Given the description of an element on the screen output the (x, y) to click on. 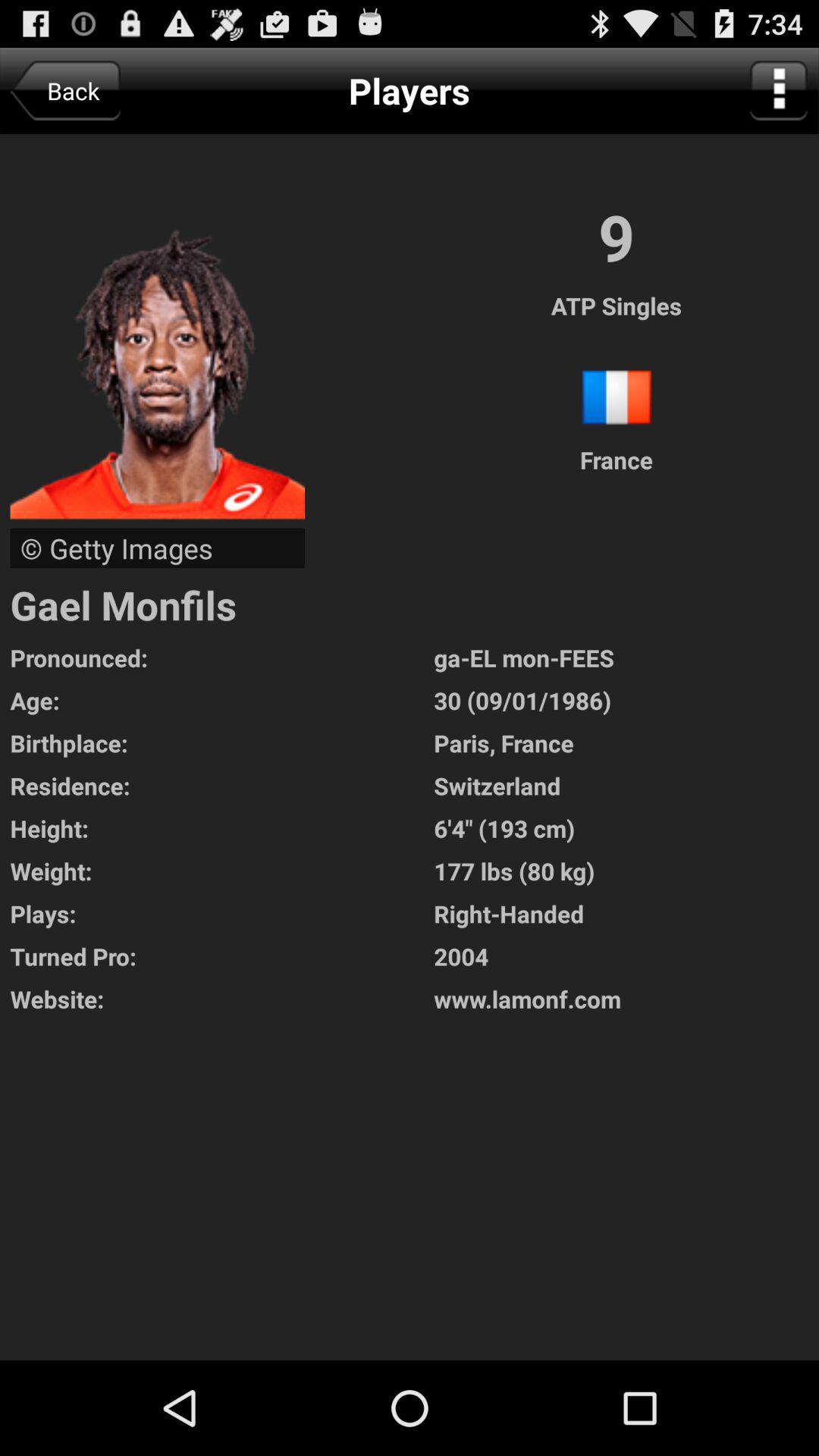
press app to the left of the players (65, 90)
